Given the description of an element on the screen output the (x, y) to click on. 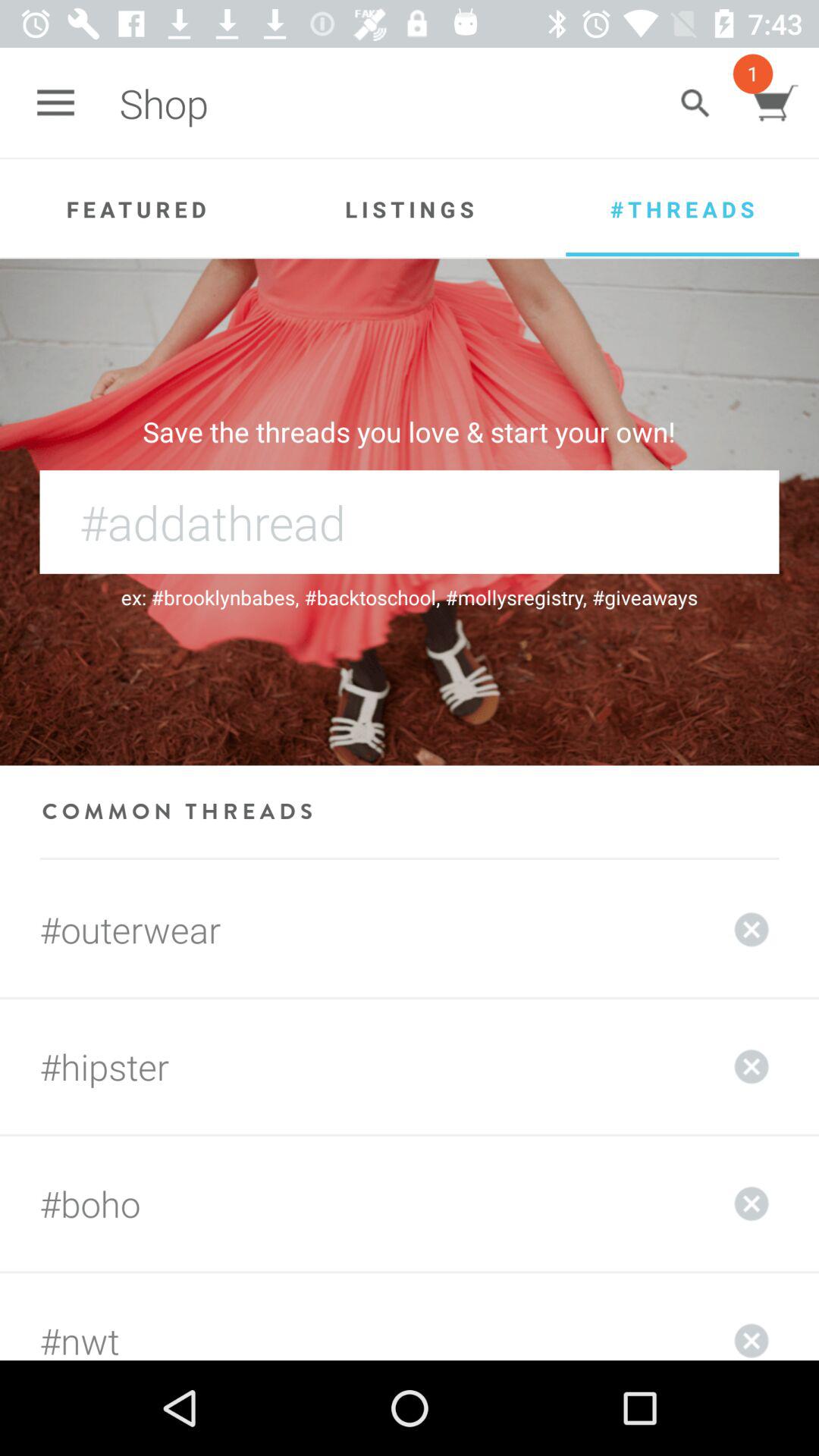
close button (751, 1316)
